Given the description of an element on the screen output the (x, y) to click on. 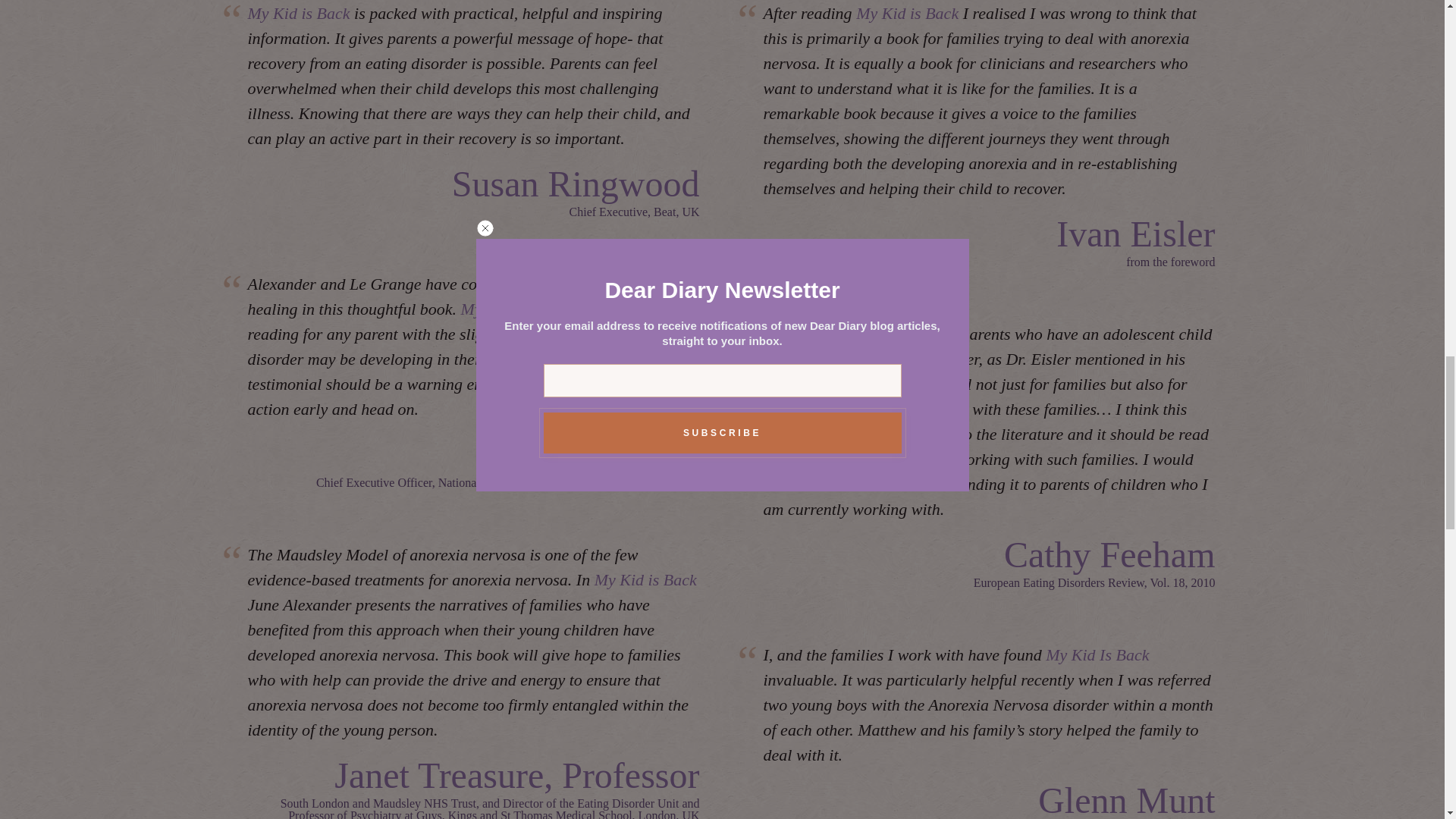
My Kid is Back (645, 579)
My Kid is Back (907, 13)
My Kid is Back (300, 13)
My Kid is Back (512, 308)
My Kid Is Back (1096, 654)
